Given the description of an element on the screen output the (x, y) to click on. 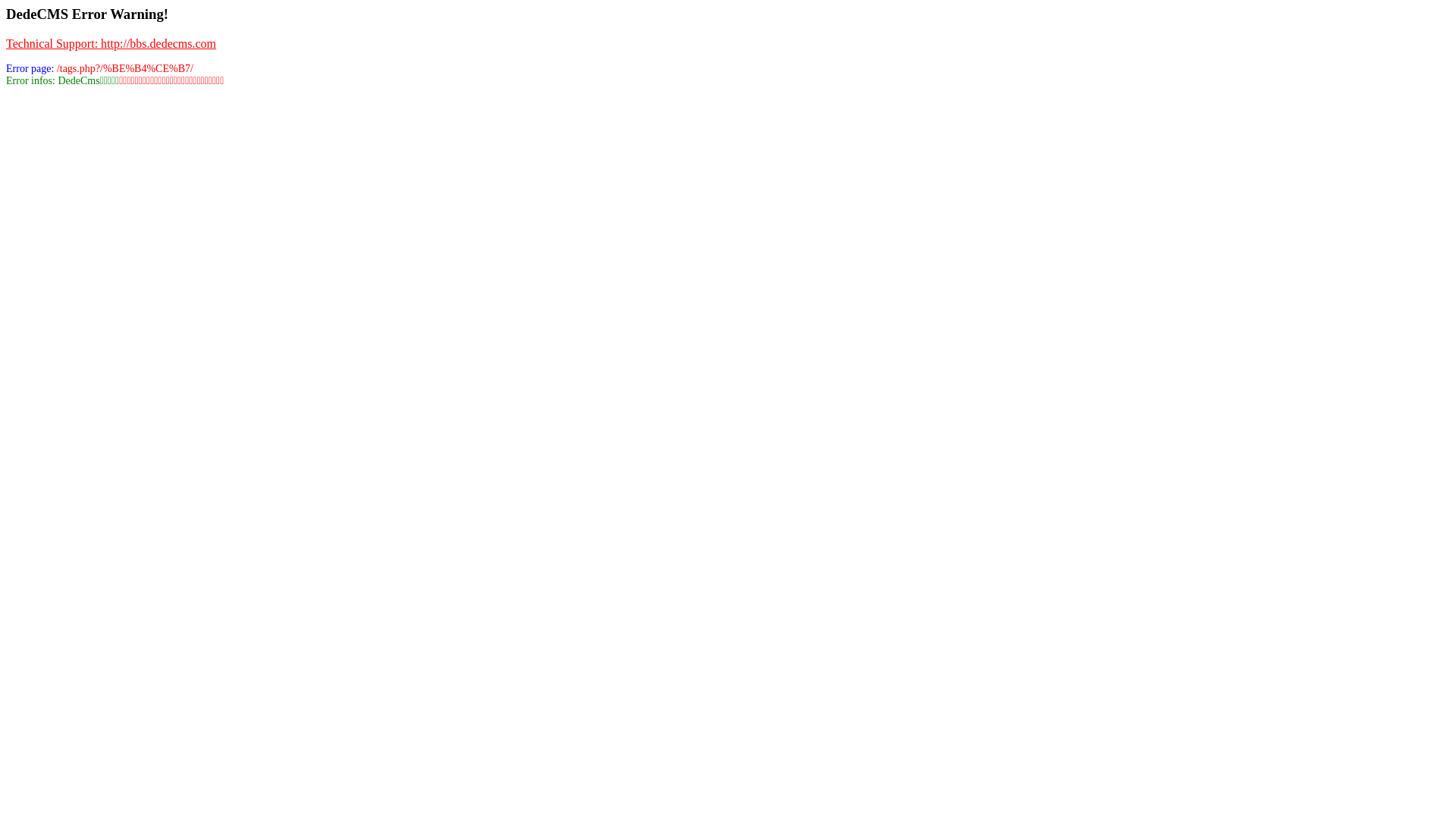
Technical Support: http://bbs.dedecms.com Element type: text (111, 43)
